Given the description of an element on the screen output the (x, y) to click on. 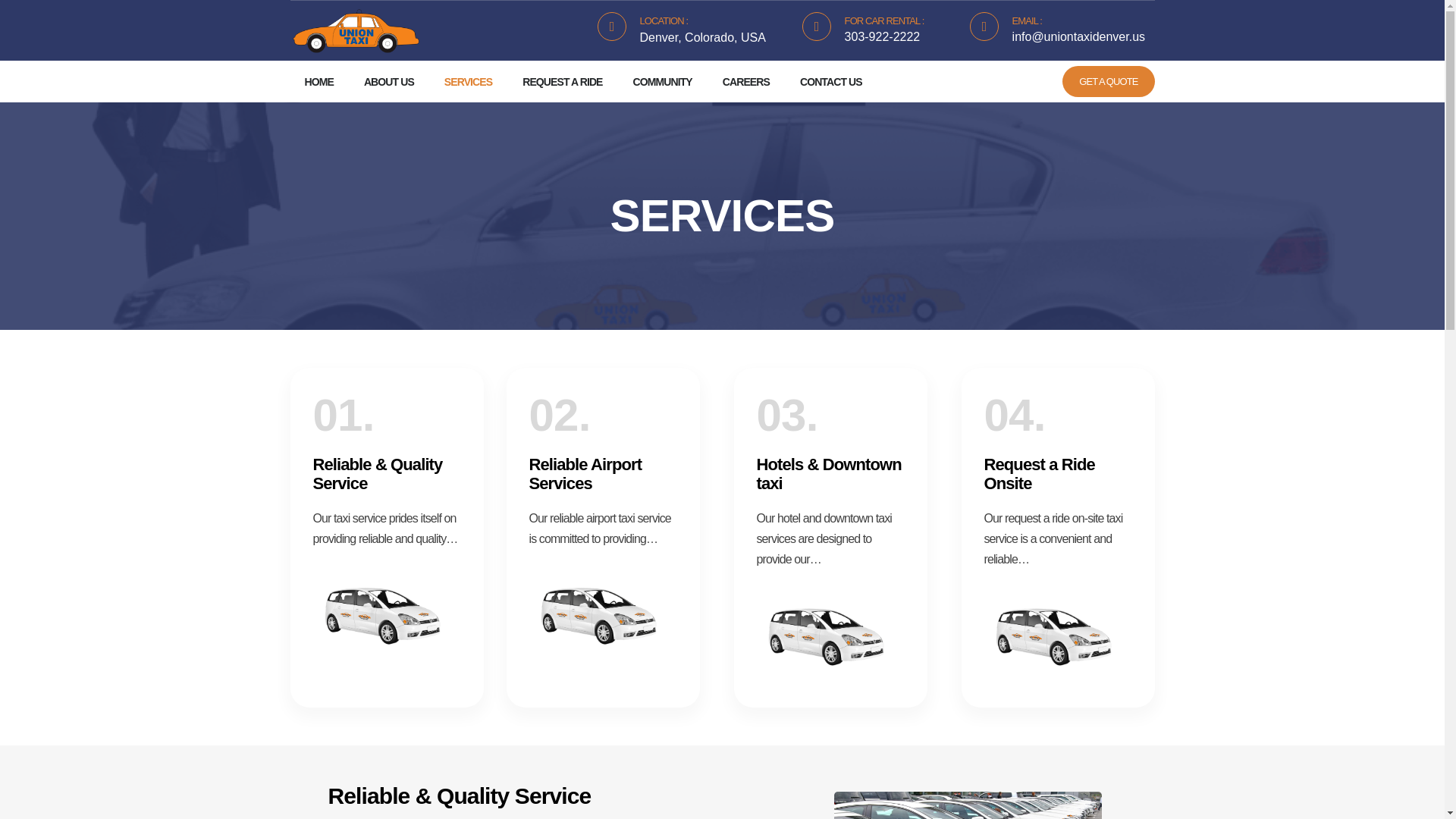
FOR CAR RENTAL : (884, 20)
LOCATION : (664, 20)
CONTACT US (830, 81)
HOME (318, 81)
COMMUNITY (663, 81)
CAREERS (746, 81)
SERVICES (468, 81)
EMAIL : (1026, 20)
REQUEST A RIDE (562, 81)
ABOUT US (388, 81)
